Given the description of an element on the screen output the (x, y) to click on. 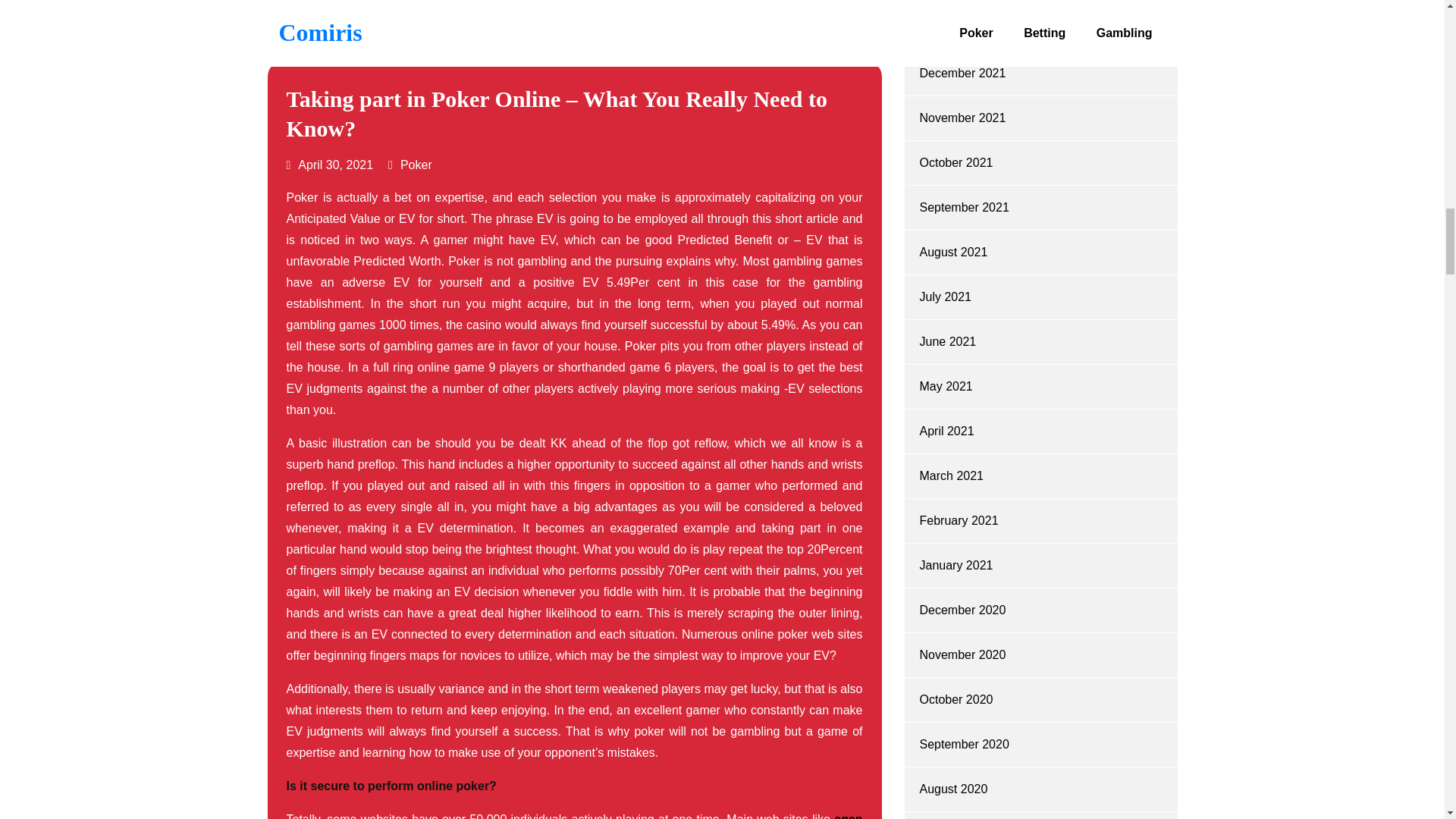
April 30, 2021 (330, 164)
Poker (416, 164)
